Given the description of an element on the screen output the (x, y) to click on. 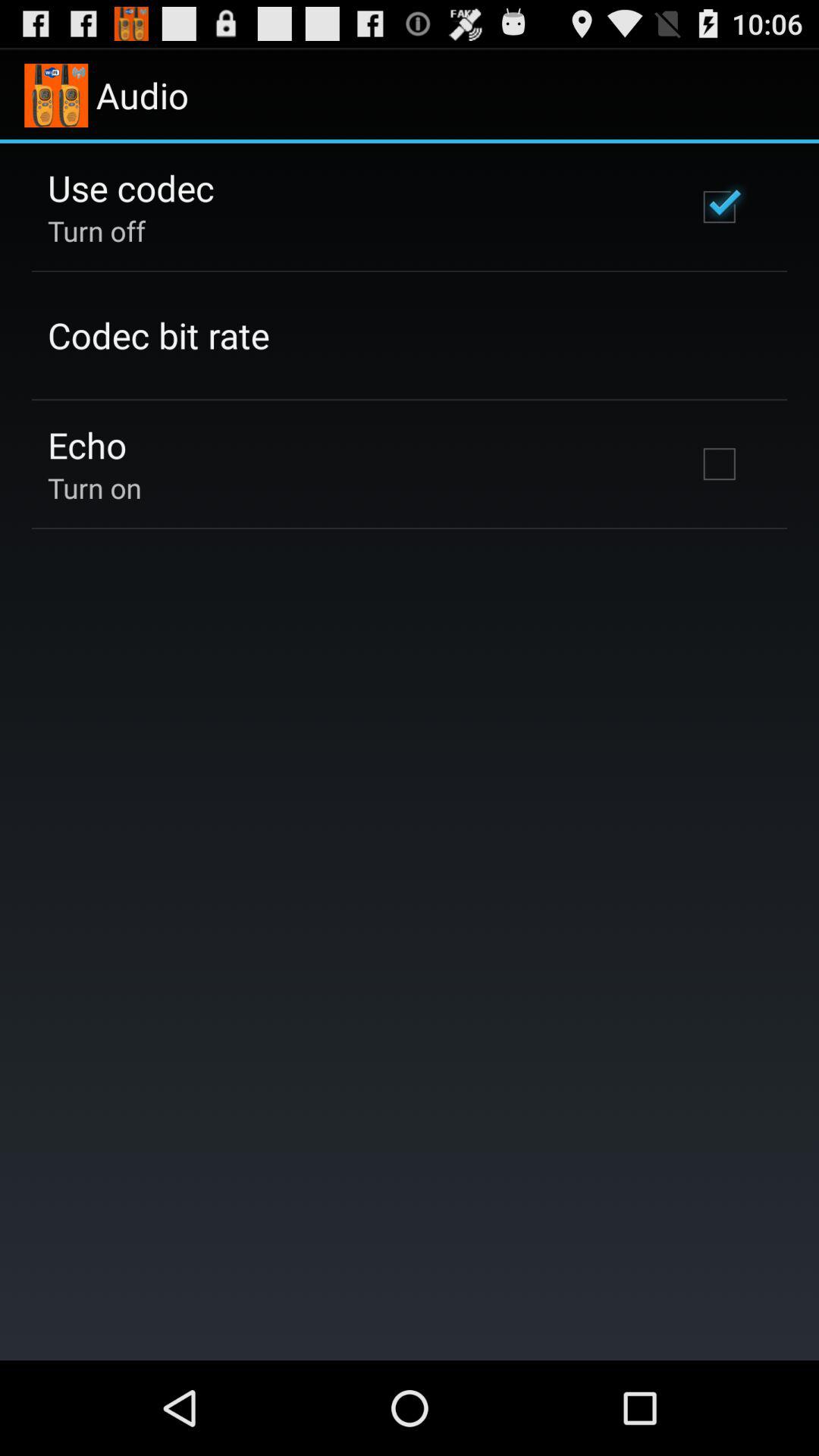
tap icon below codec bit rate item (86, 444)
